Given the description of an element on the screen output the (x, y) to click on. 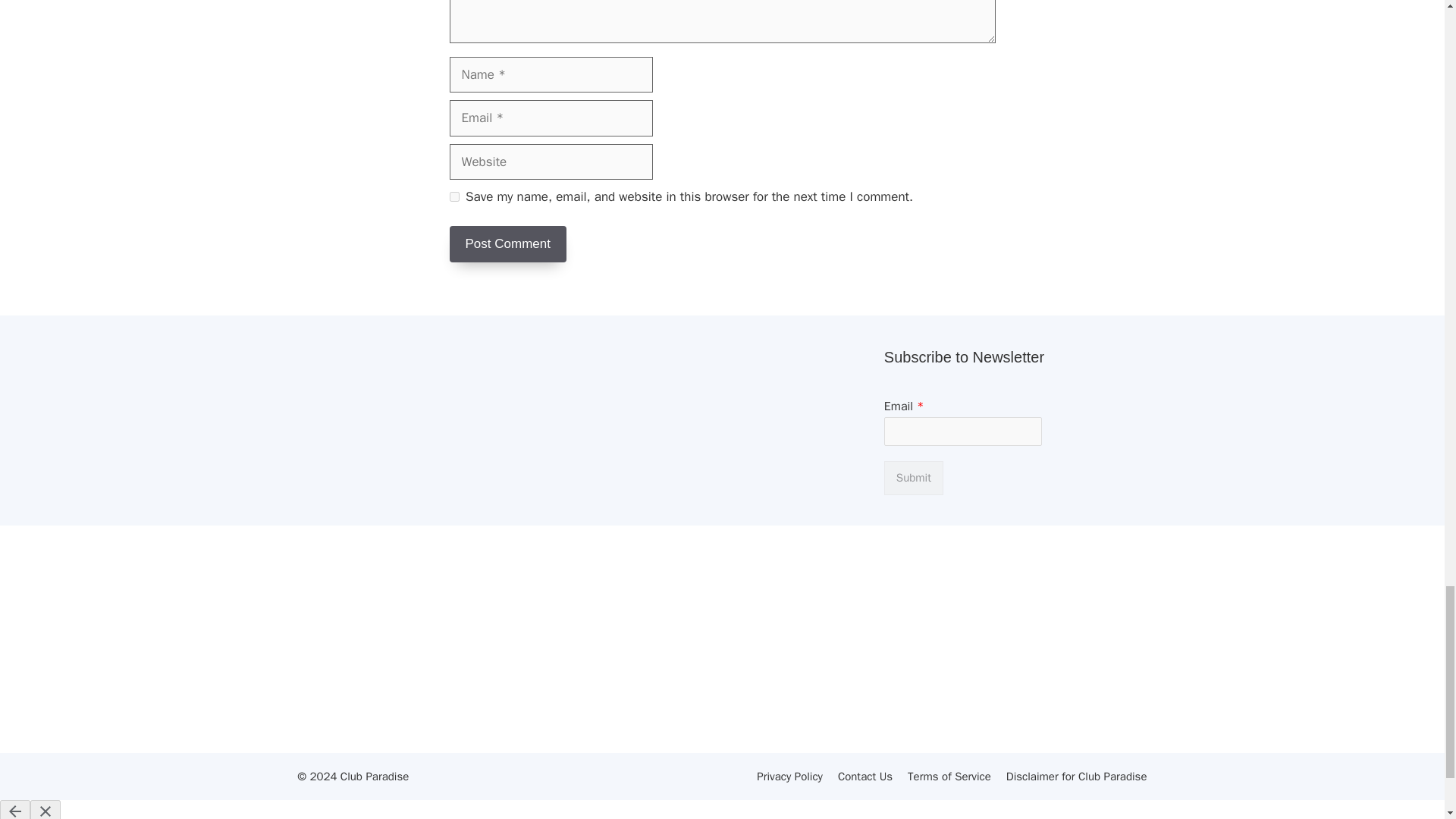
Terms of Service (949, 775)
Submit (913, 478)
Contact Us (865, 775)
Post Comment (507, 244)
yes (453, 196)
Disclaimer for Club Paradise (1076, 775)
Privacy Policy (789, 775)
Post Comment (507, 244)
